Given the description of an element on the screen output the (x, y) to click on. 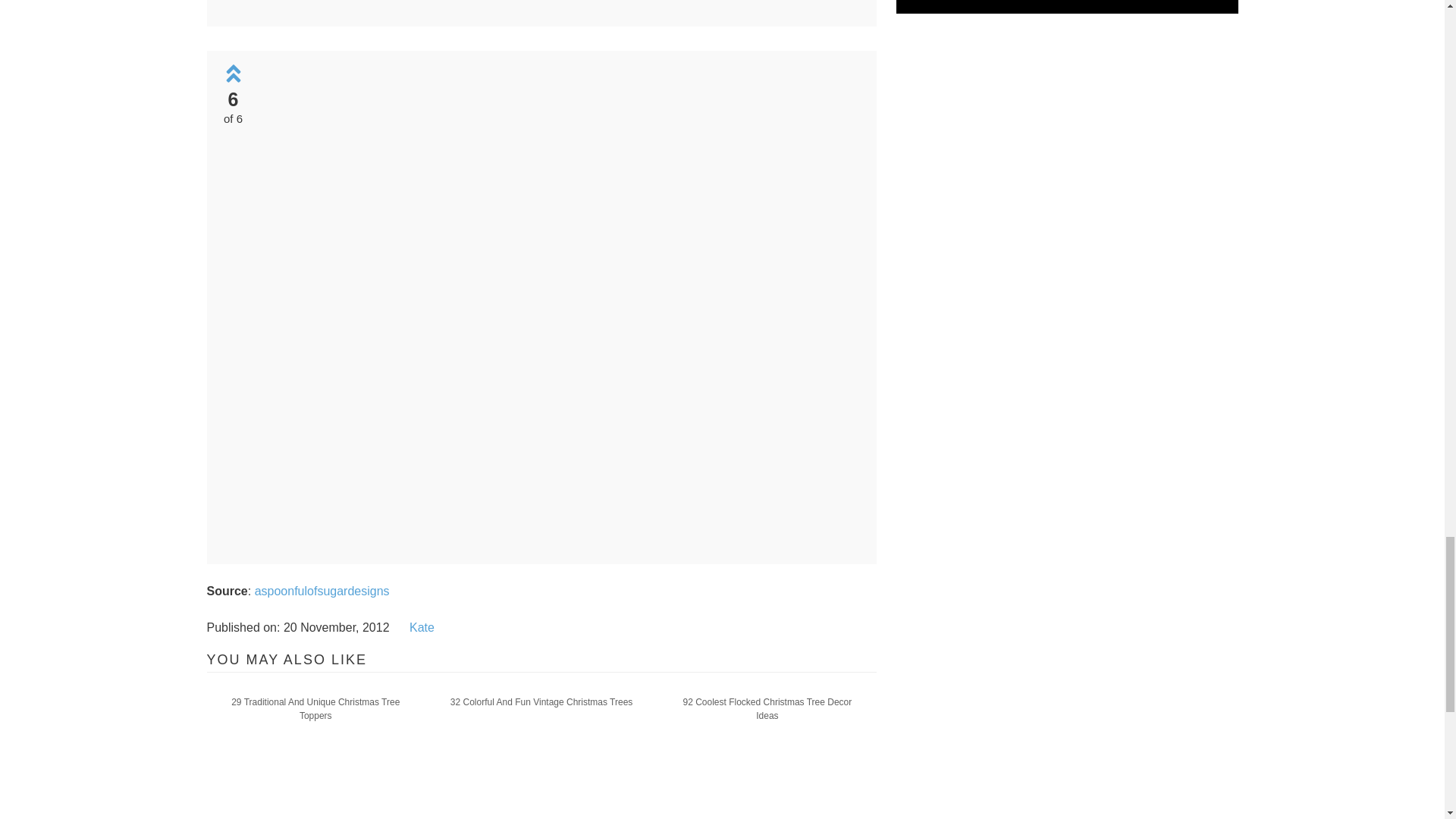
29 Traditional And Unique Christmas Tree Toppers (314, 708)
aspoonfulofsugardesigns (322, 590)
Diy Gingham Stars For Christmas Decor (559, 4)
Diy Gingham Stars For Christmas Decor (559, 6)
32 Colorful And Fun Vintage Christmas Trees (542, 701)
Kate (421, 626)
